Given the description of an element on the screen output the (x, y) to click on. 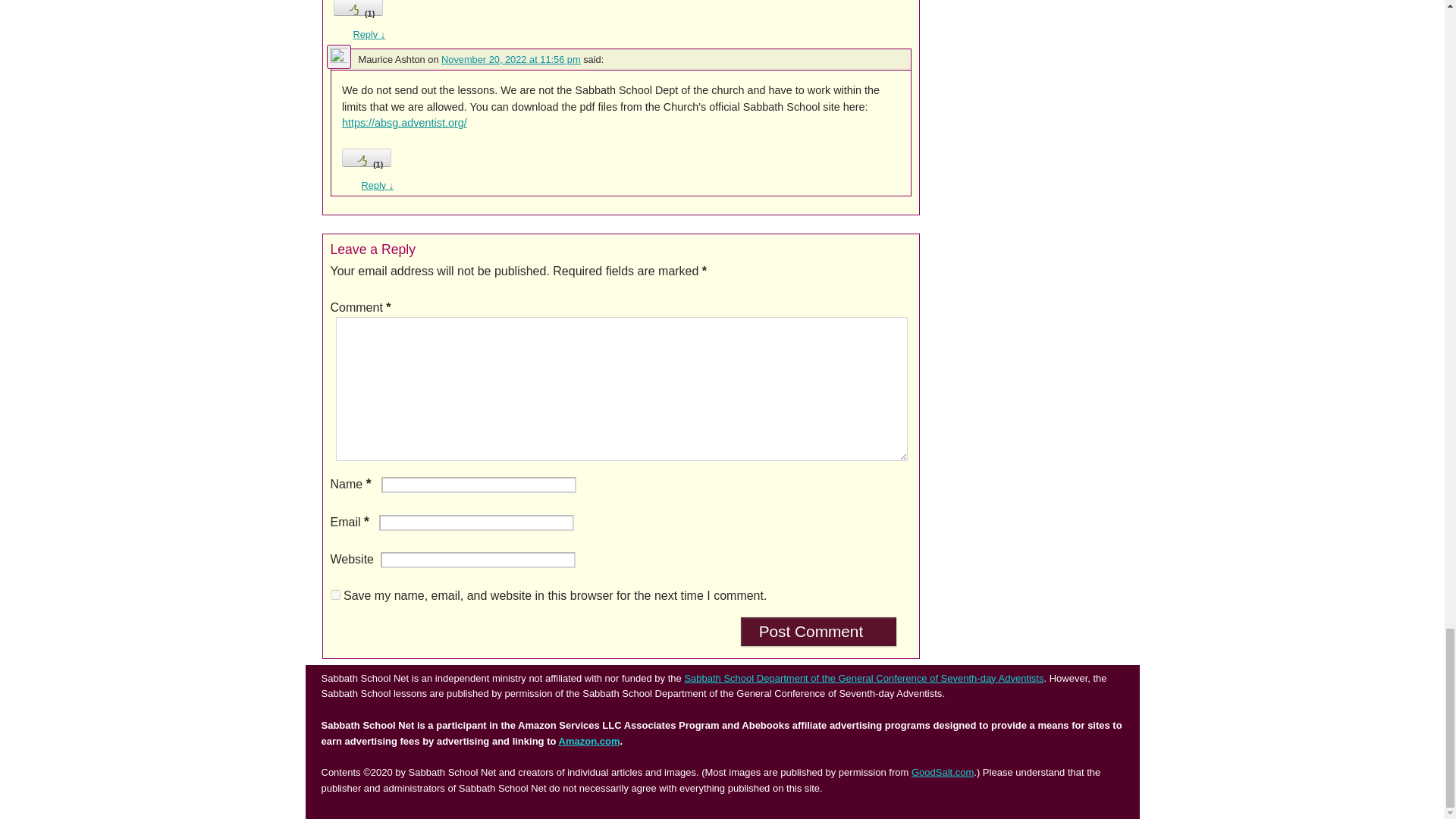
yes (335, 594)
Post Comment (818, 631)
